Given the description of an element on the screen output the (x, y) to click on. 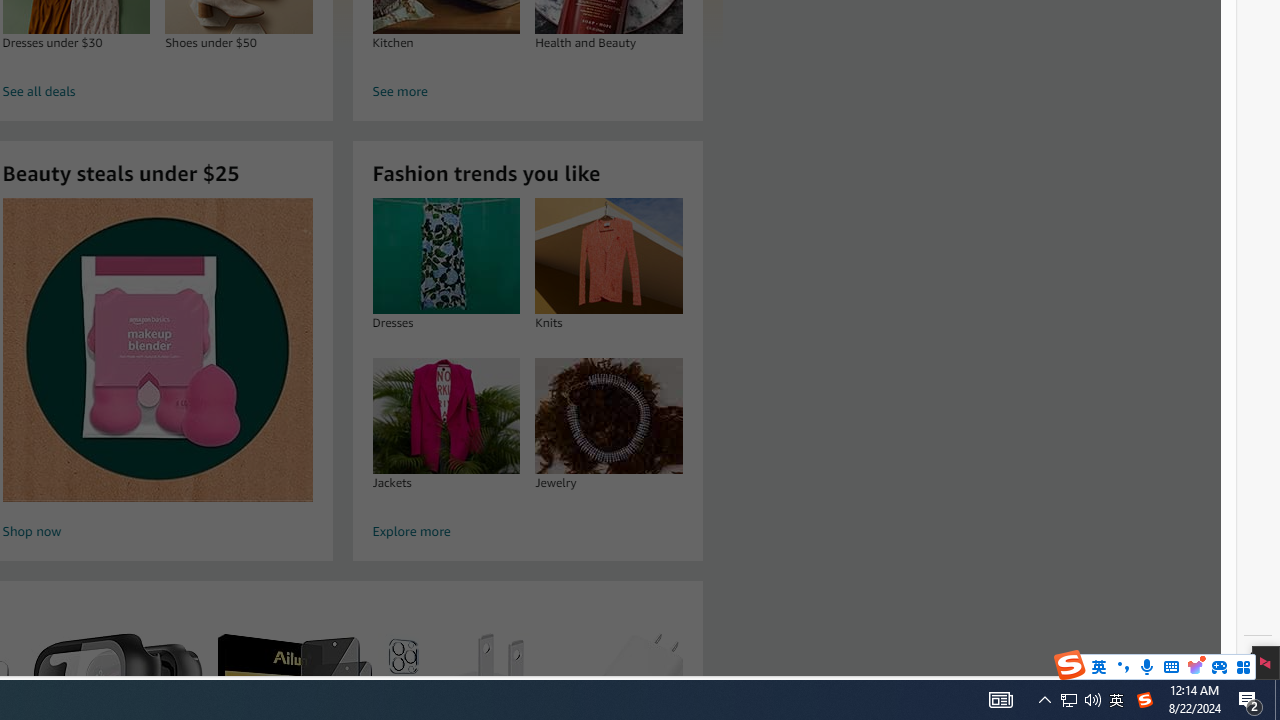
Jewelry (608, 415)
Dresses (445, 256)
Jackets (445, 415)
Jewelry (609, 415)
See more (527, 92)
Knits (609, 256)
Dresses (445, 256)
Explore more (527, 532)
See all deals (157, 92)
Jackets (445, 415)
Knits (608, 256)
Settings (1258, 658)
